Given the description of an element on the screen output the (x, y) to click on. 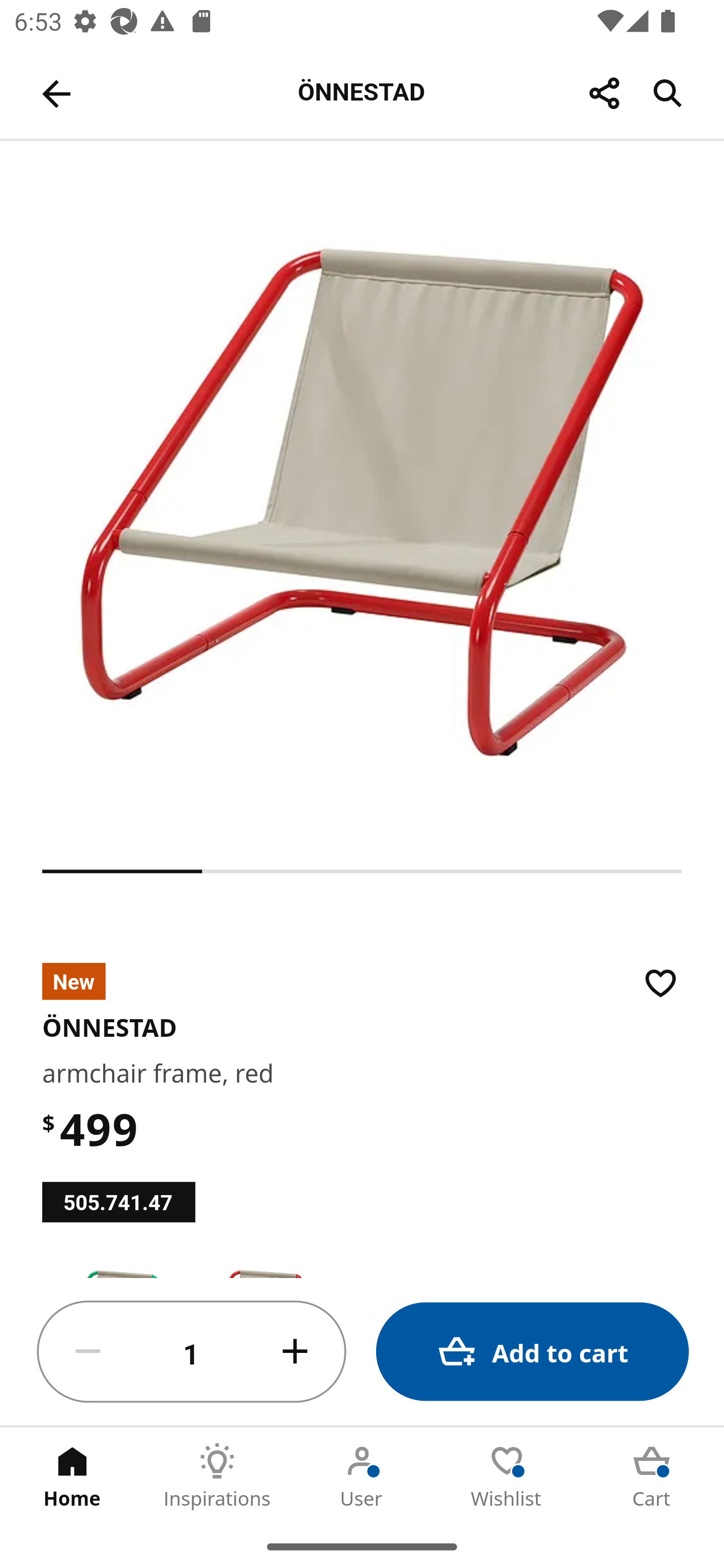
Add to cart (531, 1352)
1 (191, 1352)
Home
Tab 1 of 5 (72, 1476)
Inspirations
Tab 2 of 5 (216, 1476)
User
Tab 3 of 5 (361, 1476)
Wishlist
Tab 4 of 5 (506, 1476)
Cart
Tab 5 of 5 (651, 1476)
